Given the description of an element on the screen output the (x, y) to click on. 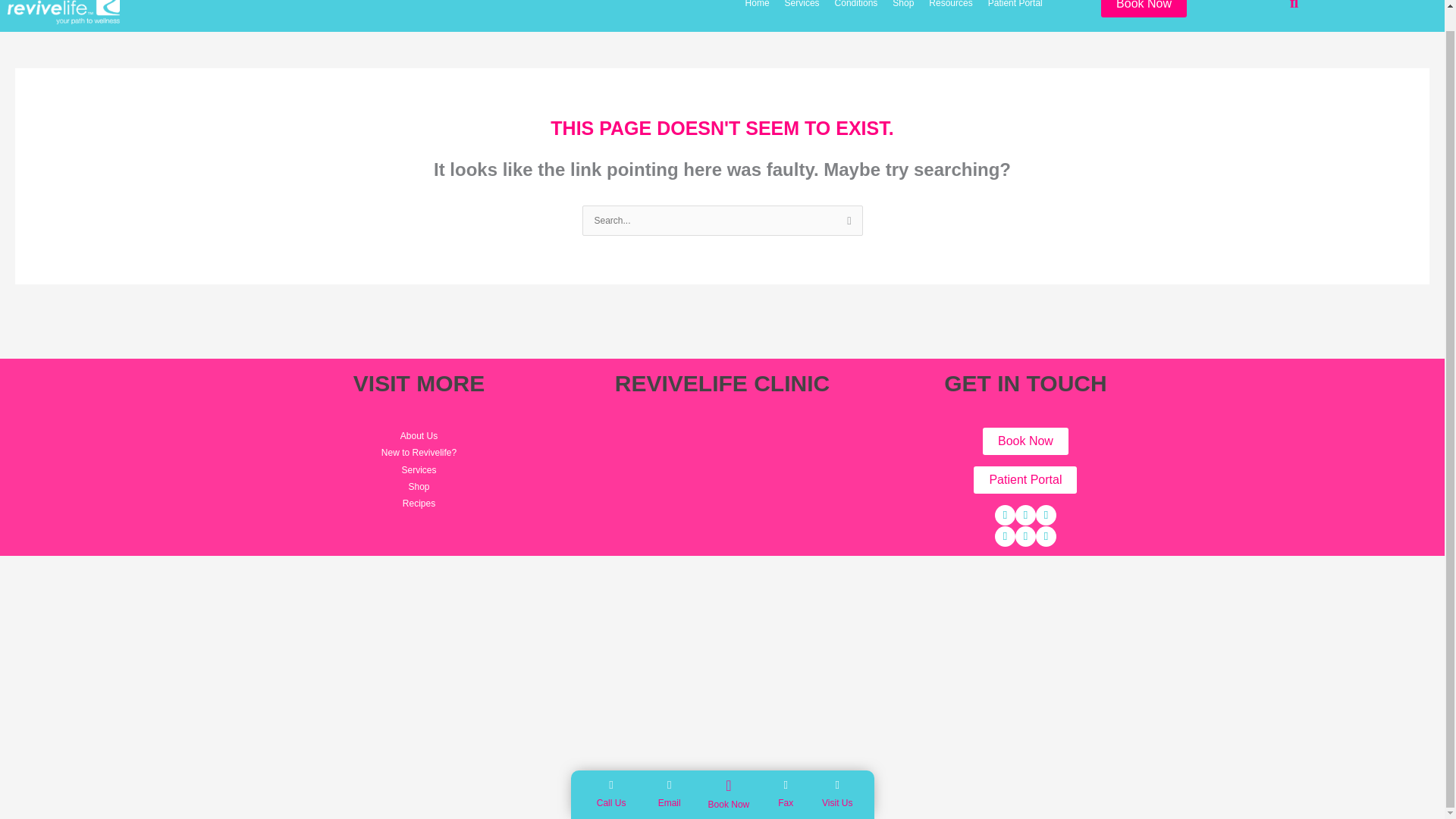
Services (805, 9)
Home (760, 9)
